Given the description of an element on the screen output the (x, y) to click on. 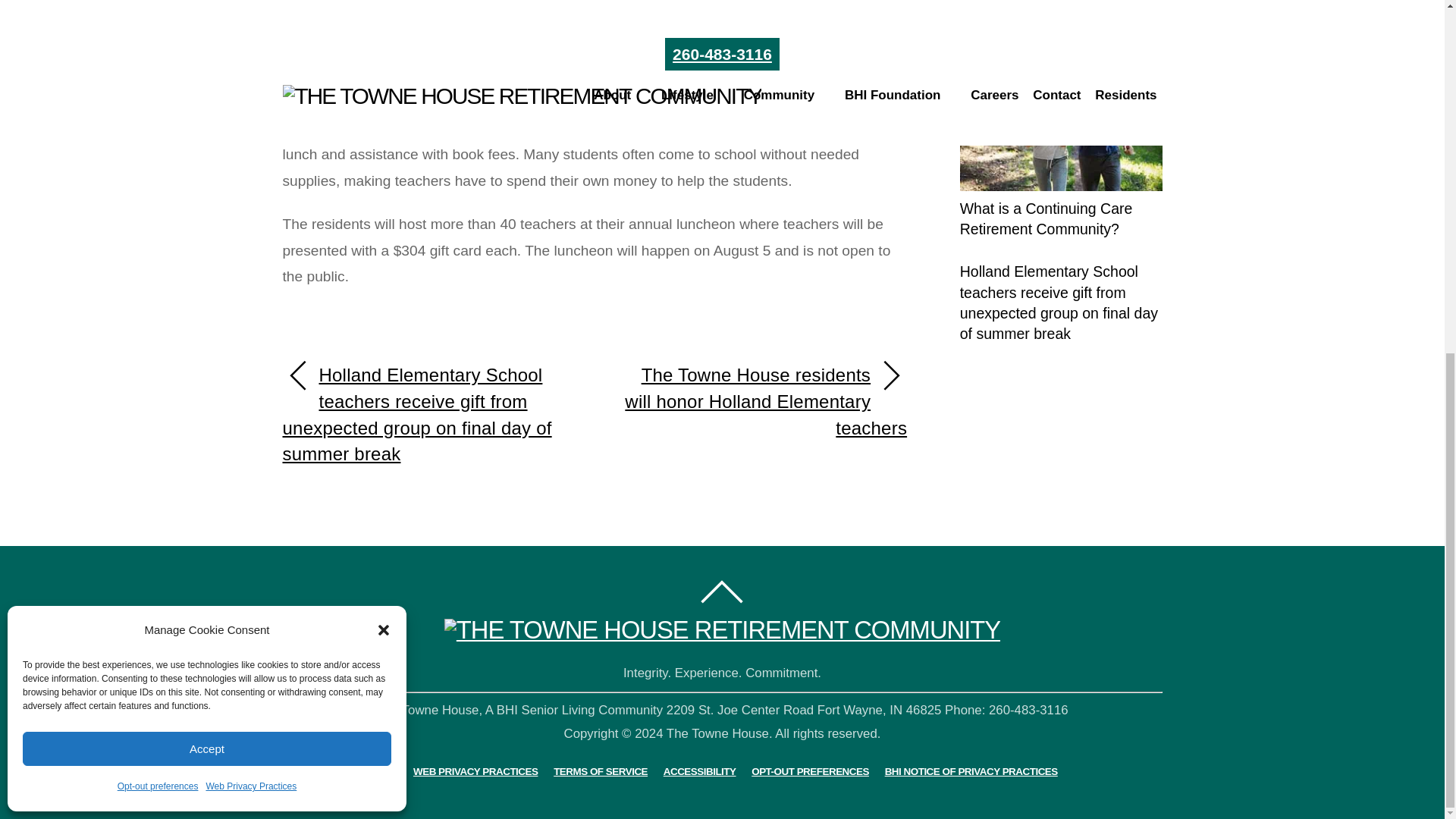
The Towne House Retirement Community (722, 629)
What is a Continuing Care Retirement Community? (1060, 123)
Accept (207, 132)
Web Privacy Practices (251, 170)
Opt-out preferences (157, 170)
